Given the description of an element on the screen output the (x, y) to click on. 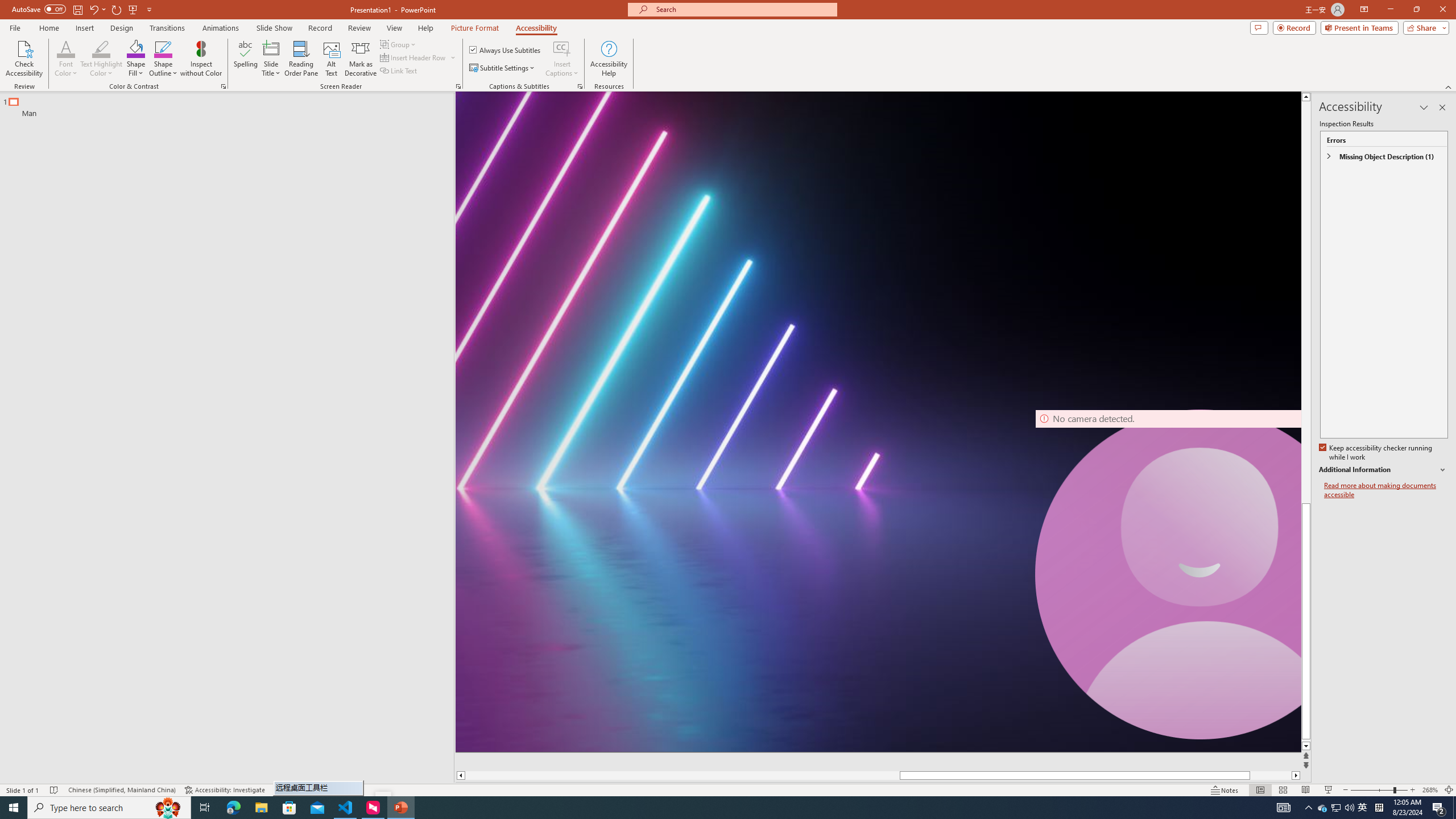
Text Highlight Color (100, 58)
Font Color (65, 58)
Check Accessibility (23, 58)
Inspect without Color (201, 58)
Accessibility (536, 28)
Always Use Subtitles (505, 49)
